Given the description of an element on the screen output the (x, y) to click on. 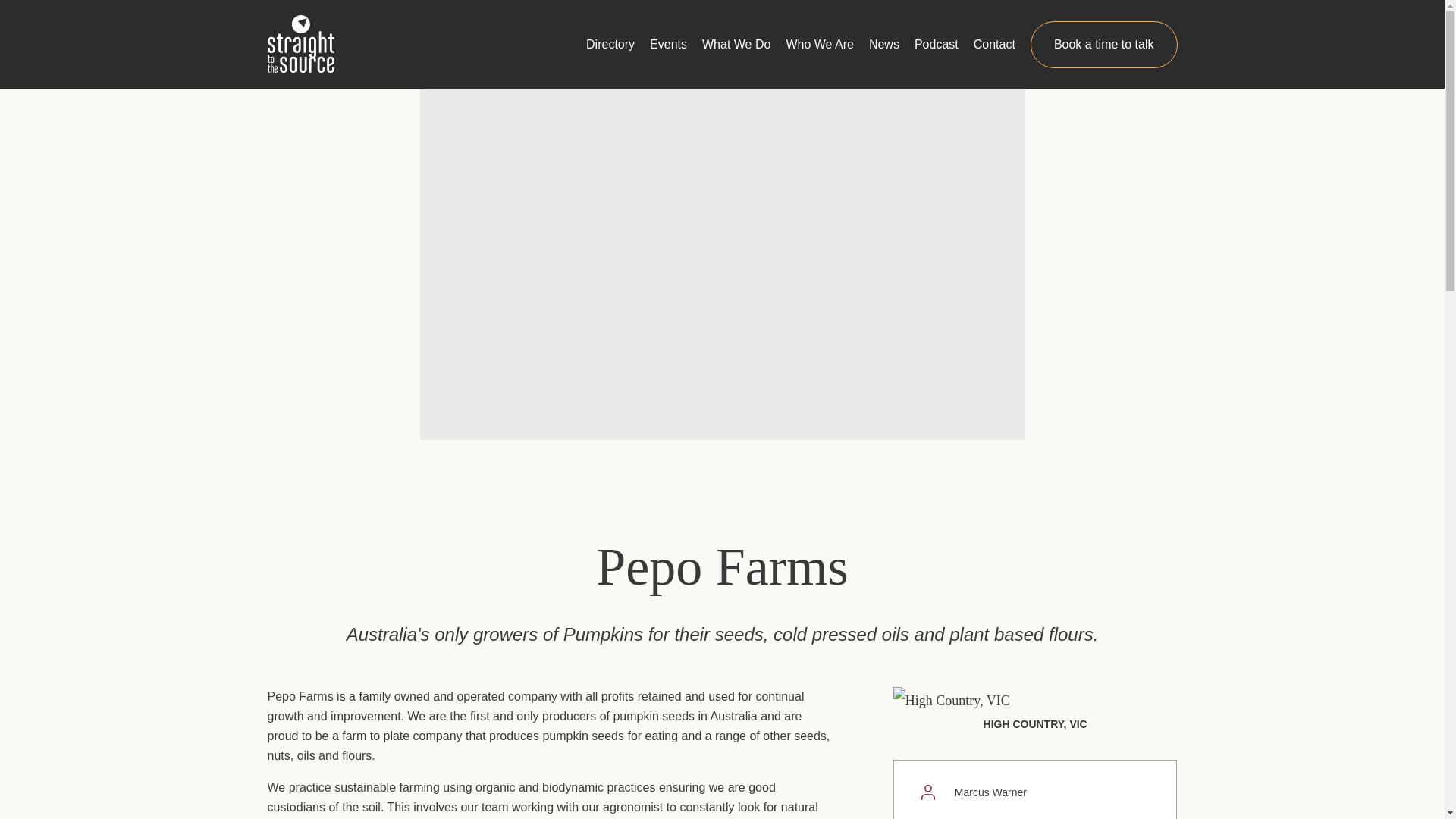
What We Do (735, 44)
Who We Are (819, 44)
Directory (610, 44)
Events (668, 44)
Podcast (936, 44)
Book a time to talk (1103, 44)
Contact (994, 44)
News (884, 44)
